Given the description of an element on the screen output the (x, y) to click on. 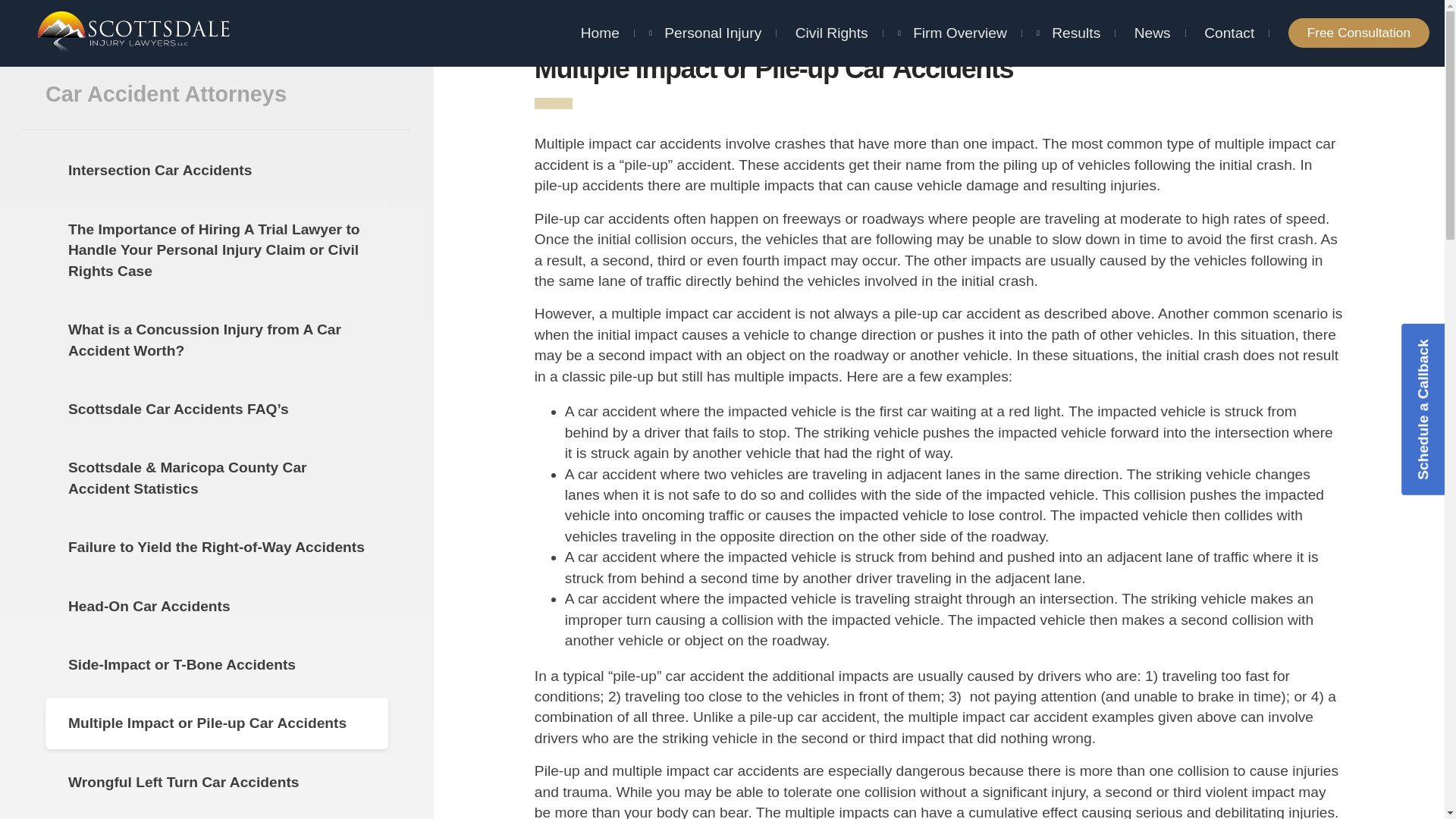
Civil Rights (830, 28)
Firm Overview (959, 28)
Free Consultation (1358, 32)
Contact (1228, 32)
Home (600, 20)
Personal Injury (712, 20)
Results (1075, 32)
